Given the description of an element on the screen output the (x, y) to click on. 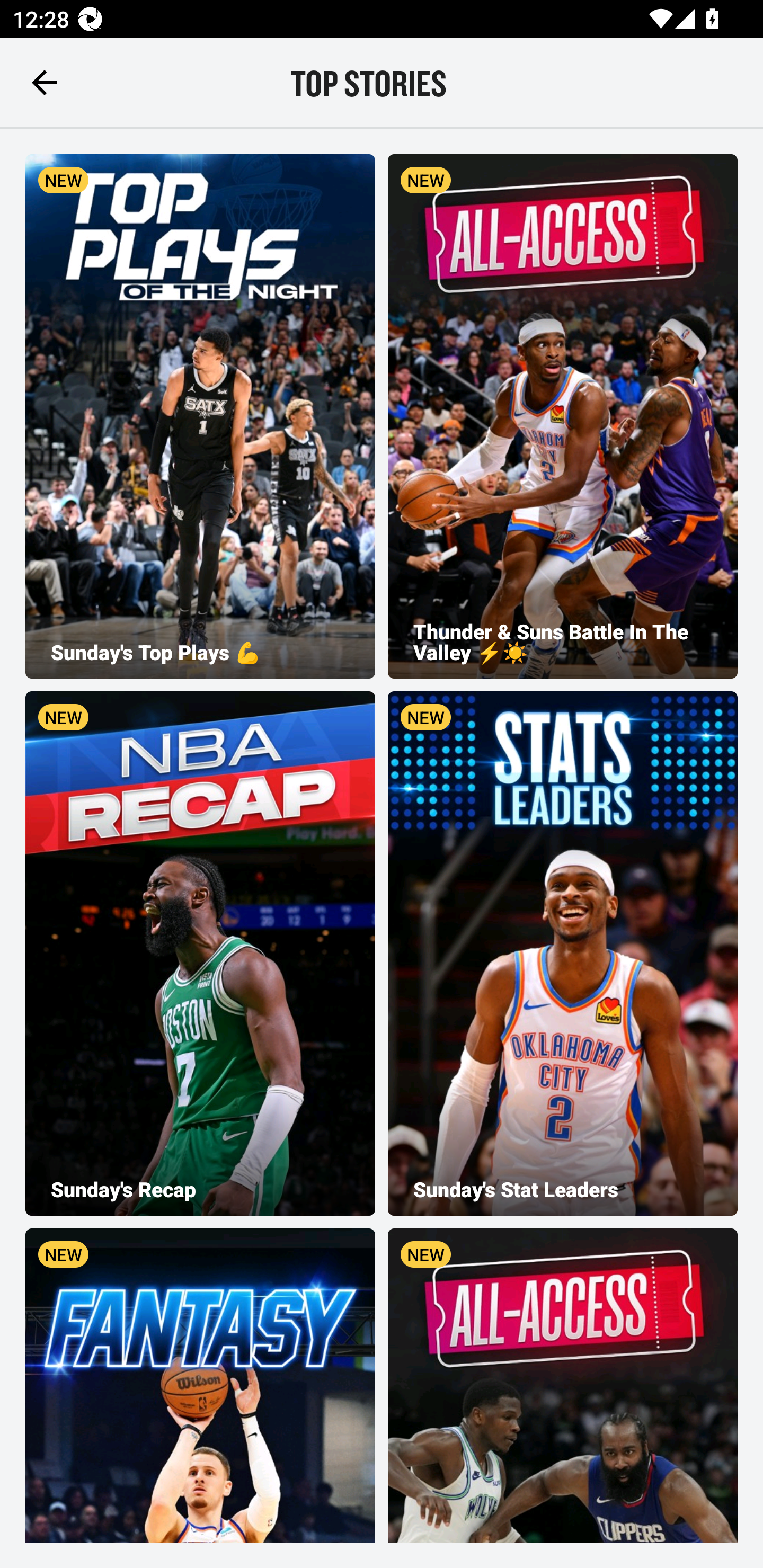
Navigate up (44, 82)
NEW Sunday's Top Plays 💪 (200, 415)
NEW Thunder & Suns Battle In The Valley ⚡☀ (562, 415)
NEW Sunday's Recap (200, 953)
NEW Sunday's Stat Leaders (562, 953)
NEW (200, 1384)
NEW (562, 1384)
